Given the description of an element on the screen output the (x, y) to click on. 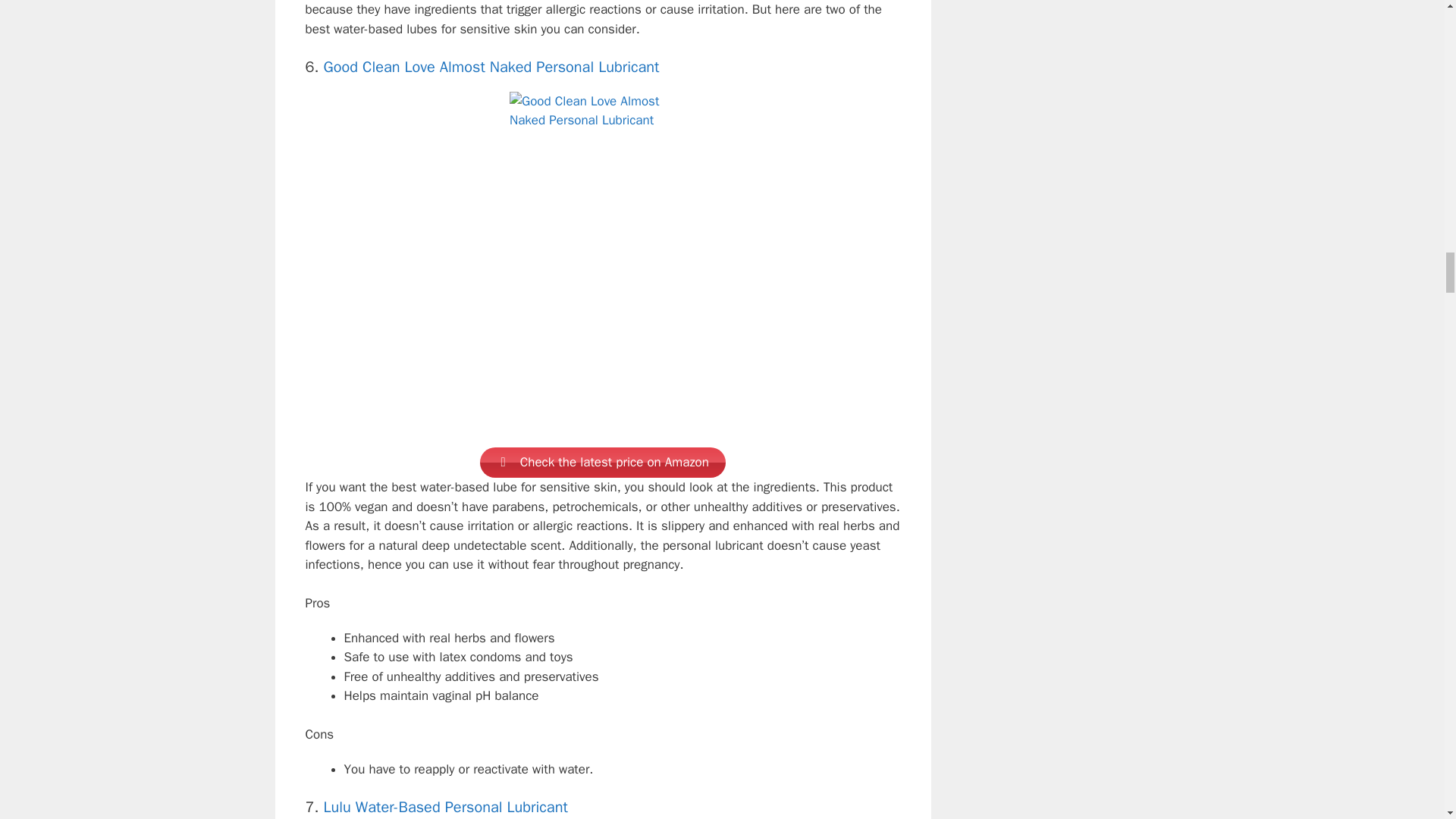
Good Clean Love Almost Naked Personal Lubricant (491, 66)
Check the latest price on Amazon (602, 462)
Lulu Water-Based Personal Lubricant (445, 806)
